Given the description of an element on the screen output the (x, y) to click on. 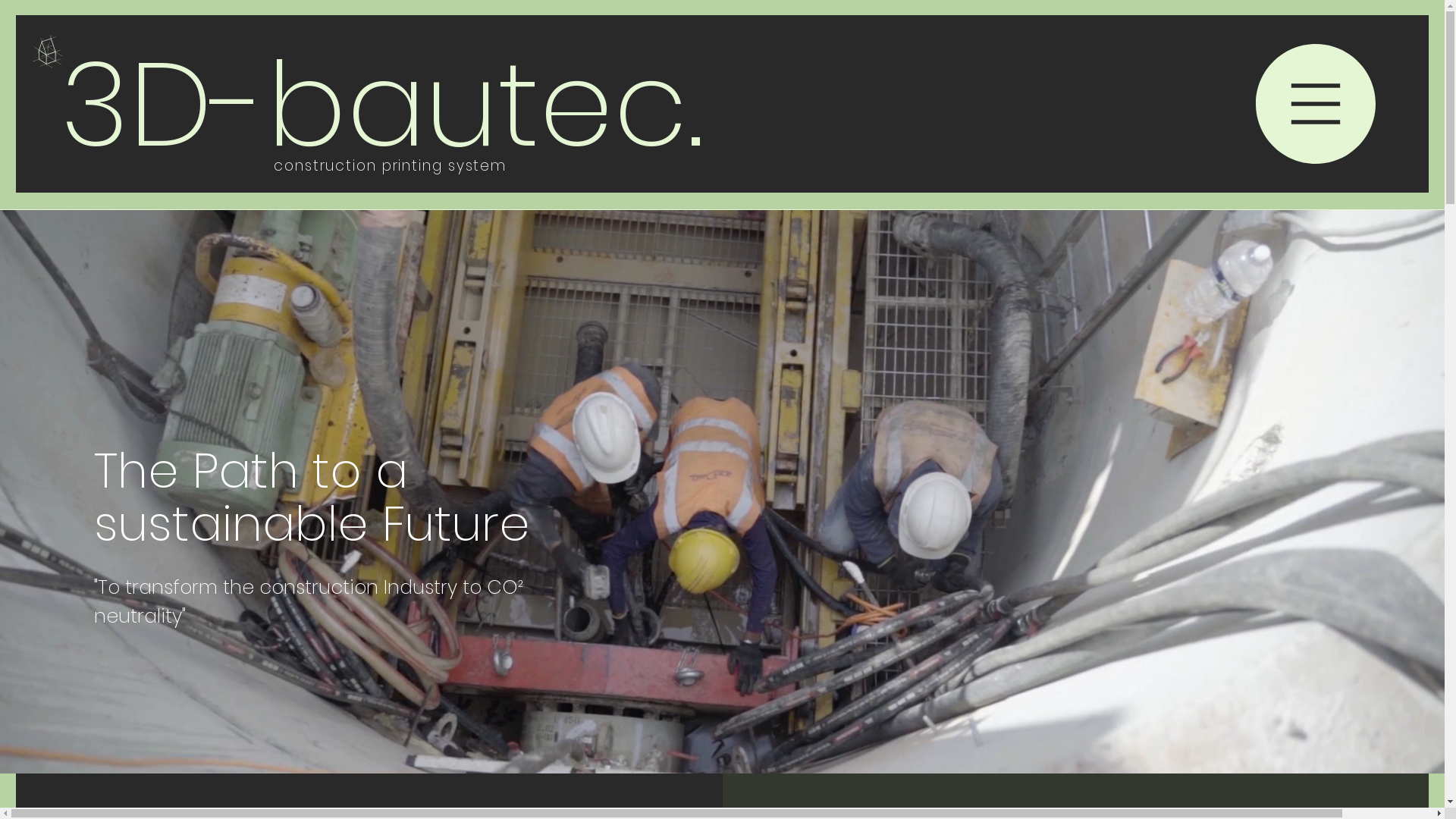
construction printing system Element type: text (389, 165)
3D-bautec. Element type: text (381, 103)
